Given the description of an element on the screen output the (x, y) to click on. 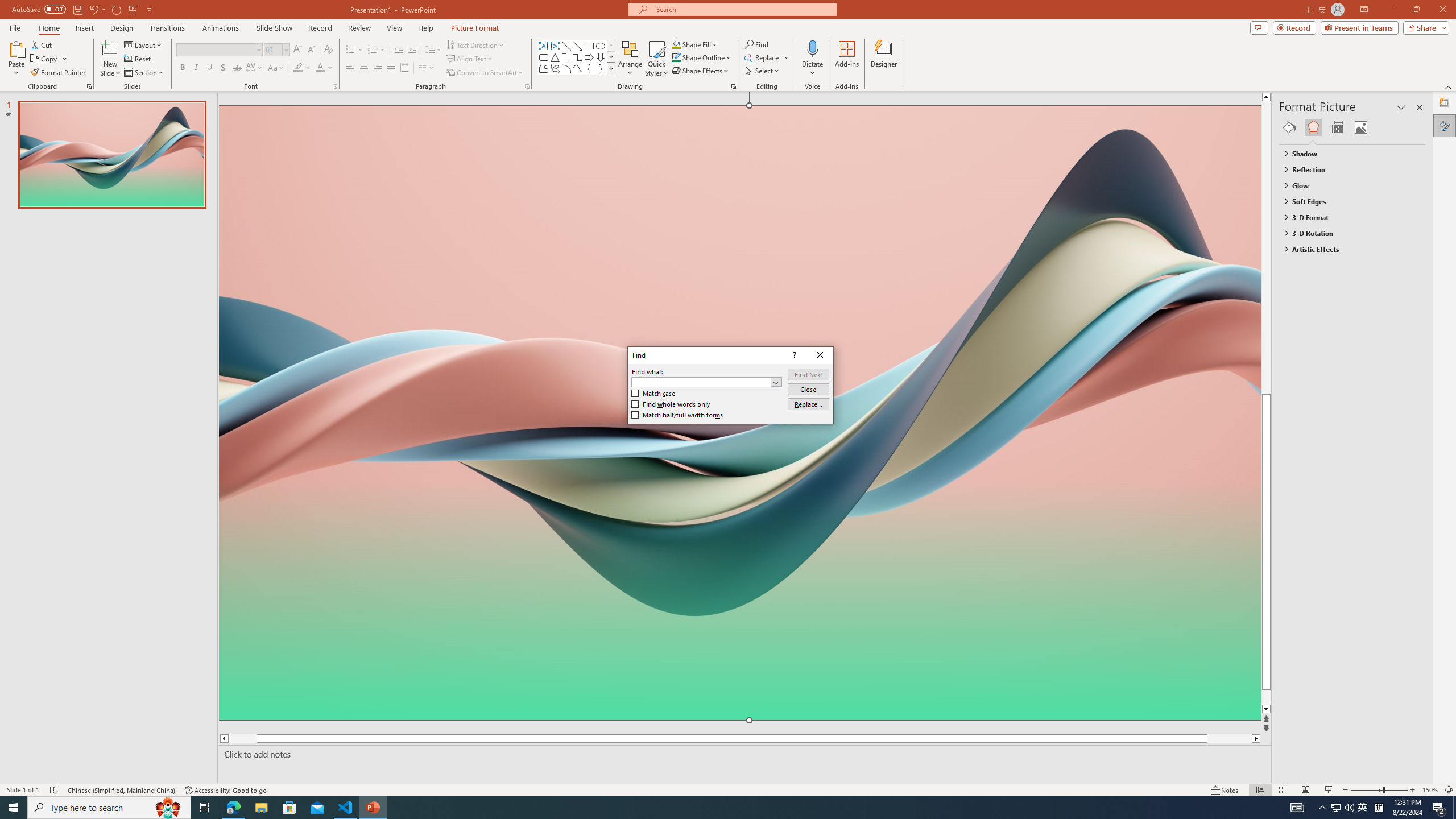
Font... (334, 85)
Font Color (324, 67)
3-D Rotation (1347, 232)
Decrease Indent (398, 49)
Find Next (808, 373)
